Given the description of an element on the screen output the (x, y) to click on. 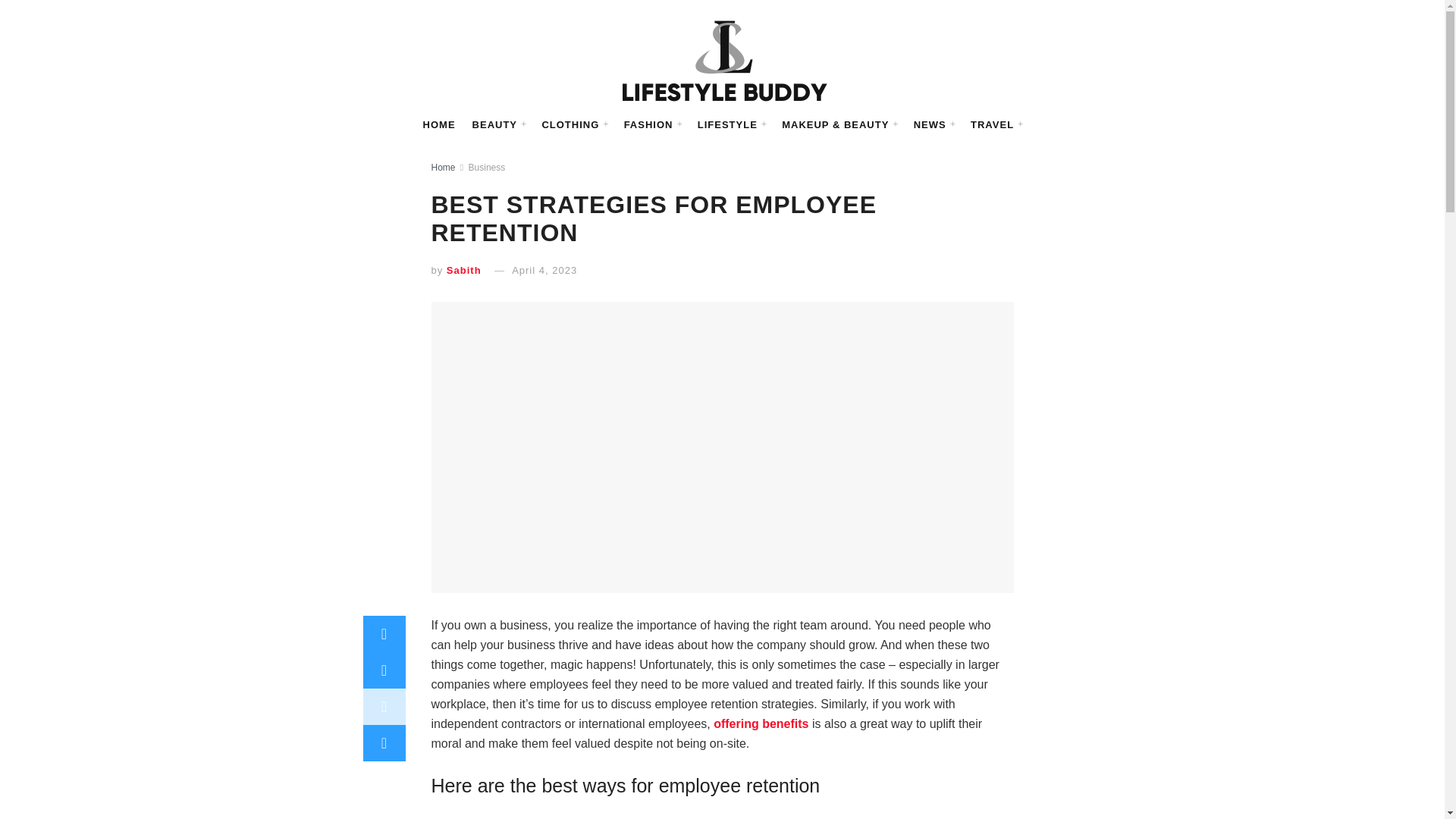
FASHION (652, 125)
CLOTHING (574, 125)
BEAUTY (498, 125)
LIFESTYLE (731, 125)
